Given the description of an element on the screen output the (x, y) to click on. 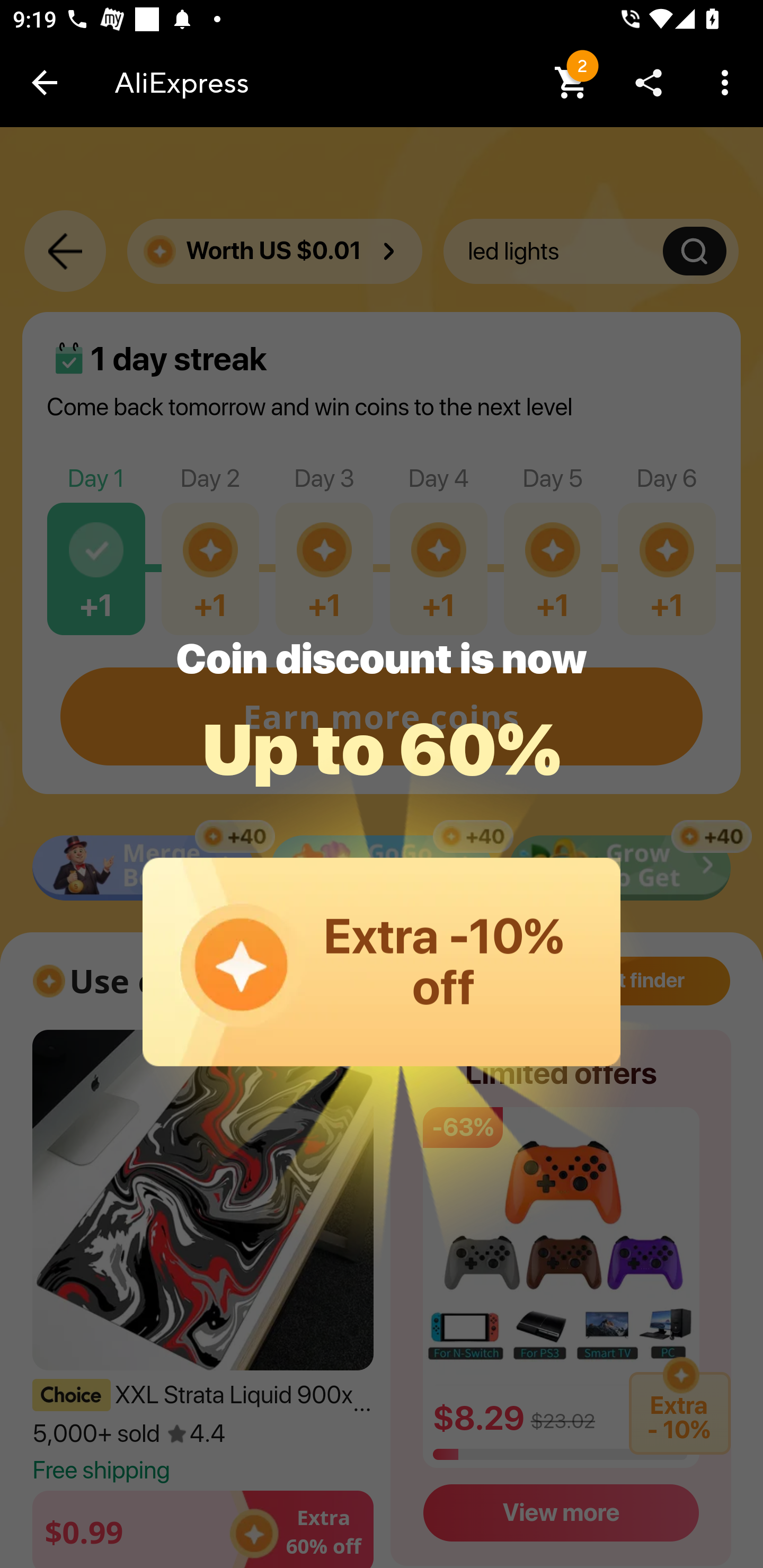
Navigate up (44, 82)
2 (572, 81)
Share (648, 81)
More… (724, 81)
Earn more coins (381, 699)
